Given the description of an element on the screen output the (x, y) to click on. 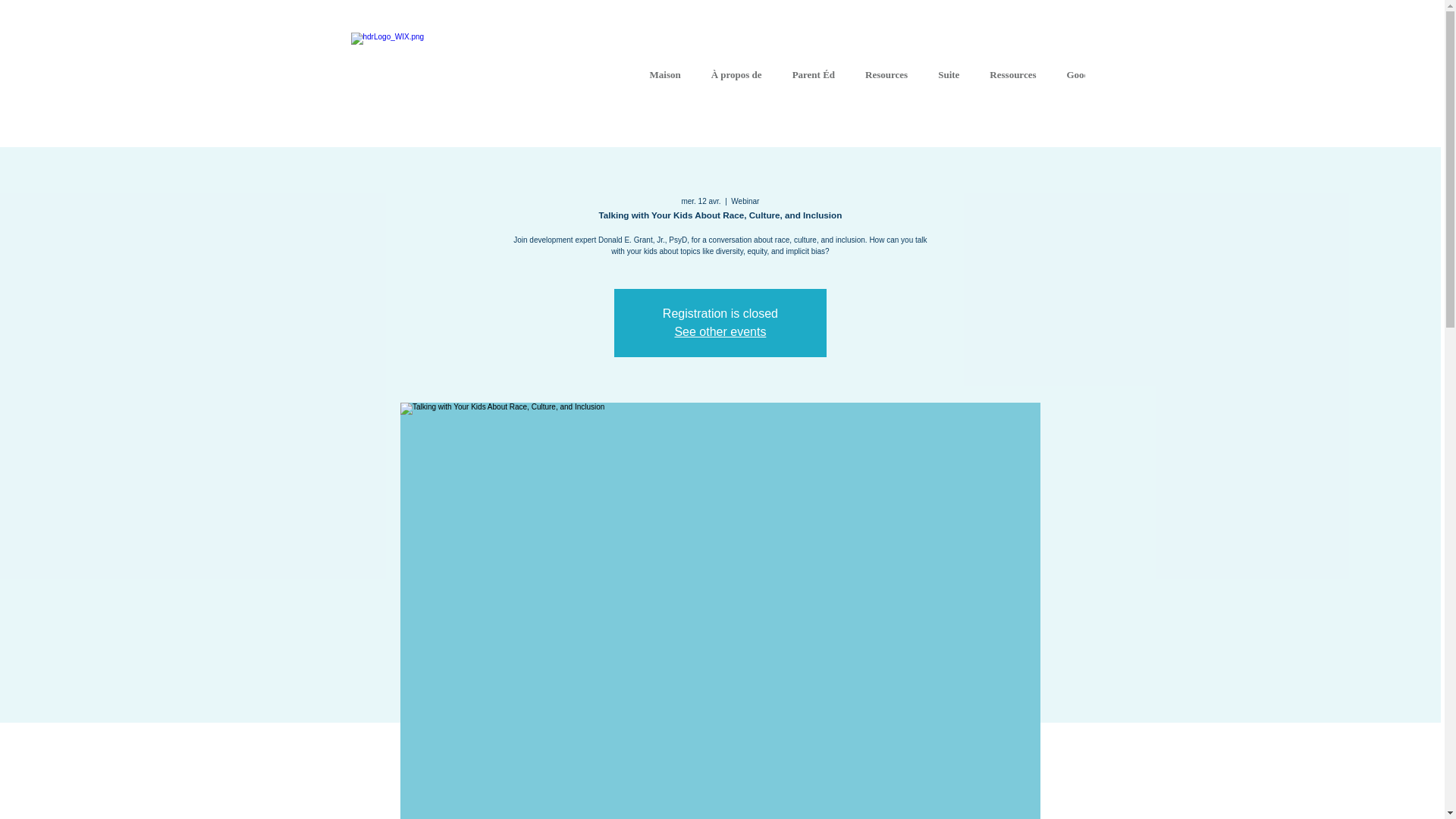
Suite (948, 76)
Ressources (1012, 76)
See other events (719, 331)
Maison (664, 76)
